Given the description of an element on the screen output the (x, y) to click on. 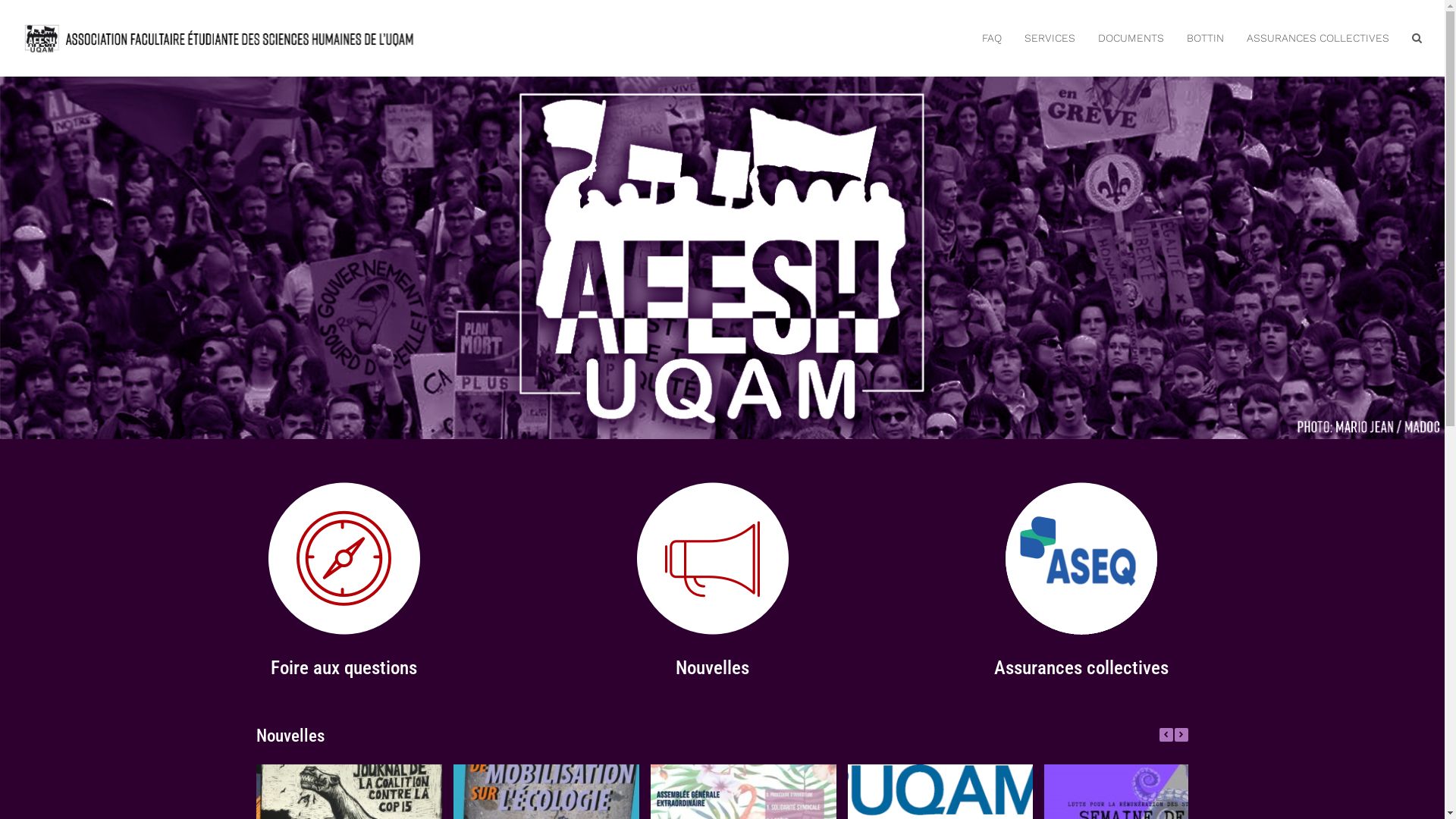
Previous Element type: hover (1166, 734)
SERVICES Element type: text (1049, 37)
Nouvelles Element type: text (712, 667)
Foire aux questions Element type: text (343, 667)
Next Element type: hover (1181, 734)
Assurances collectives Element type: text (1081, 667)
AFESH-UQAM Element type: hover (221, 36)
BOTTIN Element type: text (1205, 37)
DOCUMENTS Element type: text (1130, 37)
FAQ Element type: text (991, 37)
ASSURANCES COLLECTIVES Element type: text (1317, 37)
